Given the description of an element on the screen output the (x, y) to click on. 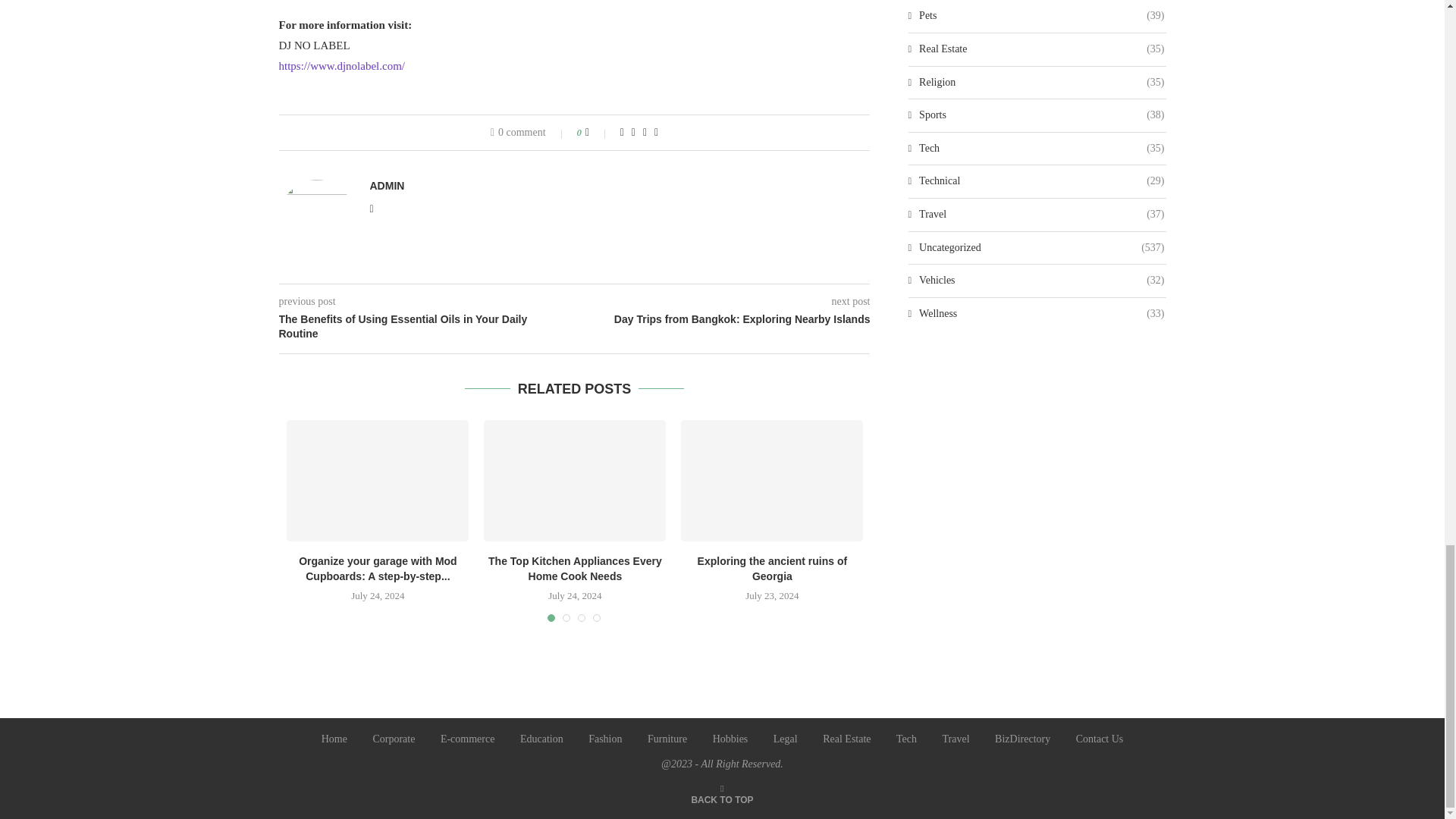
Like (597, 132)
Author admin (386, 185)
Day Trips from Bangkok: Exploring Nearby Islands (722, 319)
The Top Kitchen Appliances Every Home Cook Needs (574, 480)
Exploring the ancient ruins of Georgia (772, 480)
ADMIN (386, 185)
The Benefits of Using Essential Oils in Your Daily Routine (427, 327)
